Given the description of an element on the screen output the (x, y) to click on. 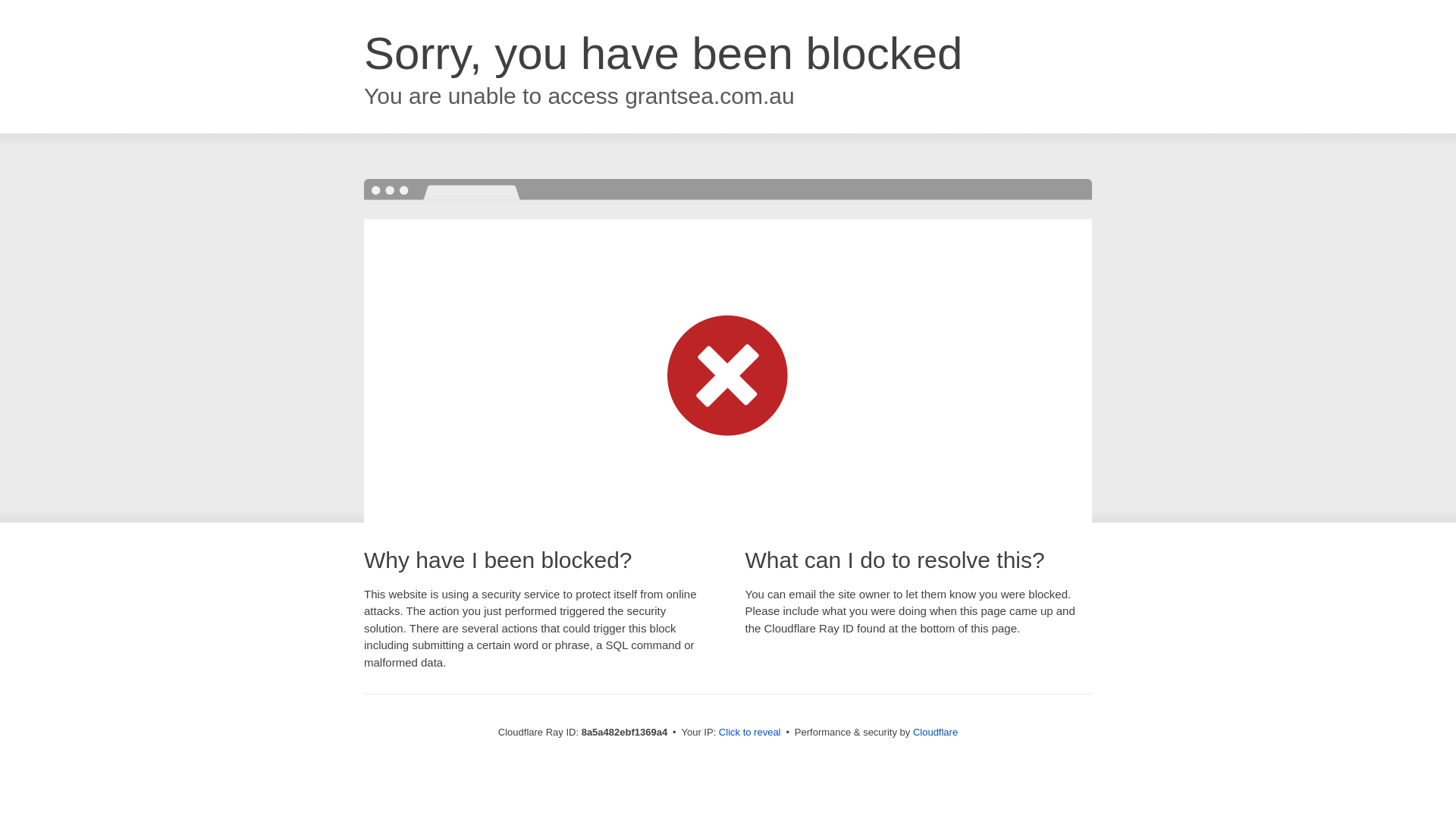
Click to reveal (749, 732)
Cloudflare (935, 731)
